Given the description of an element on the screen output the (x, y) to click on. 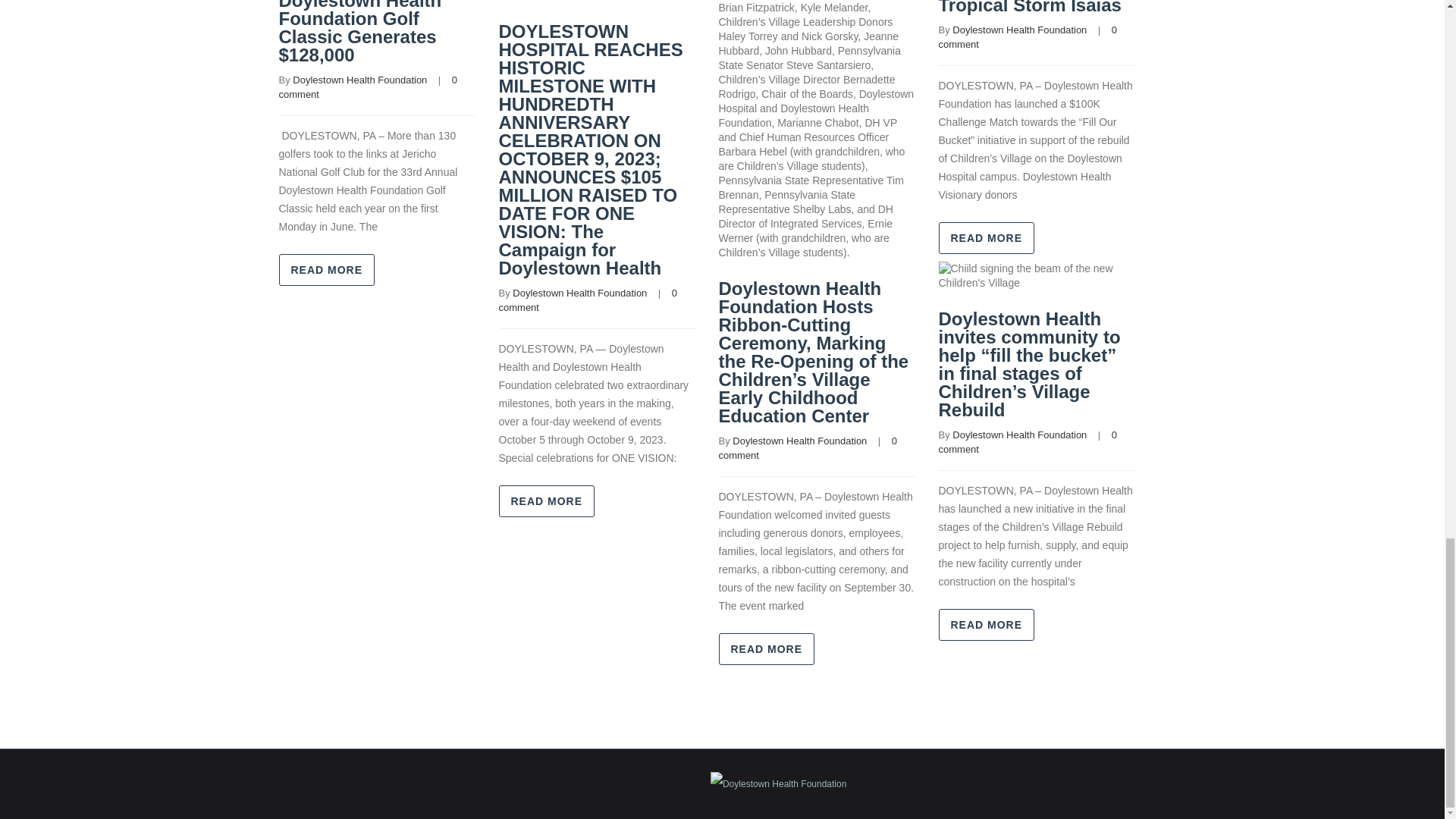
Posts by Doylestown Health Foundation (579, 292)
Posts by Doylestown Health Foundation (799, 440)
Posts by Doylestown Health Foundation (359, 79)
